Given the description of an element on the screen output the (x, y) to click on. 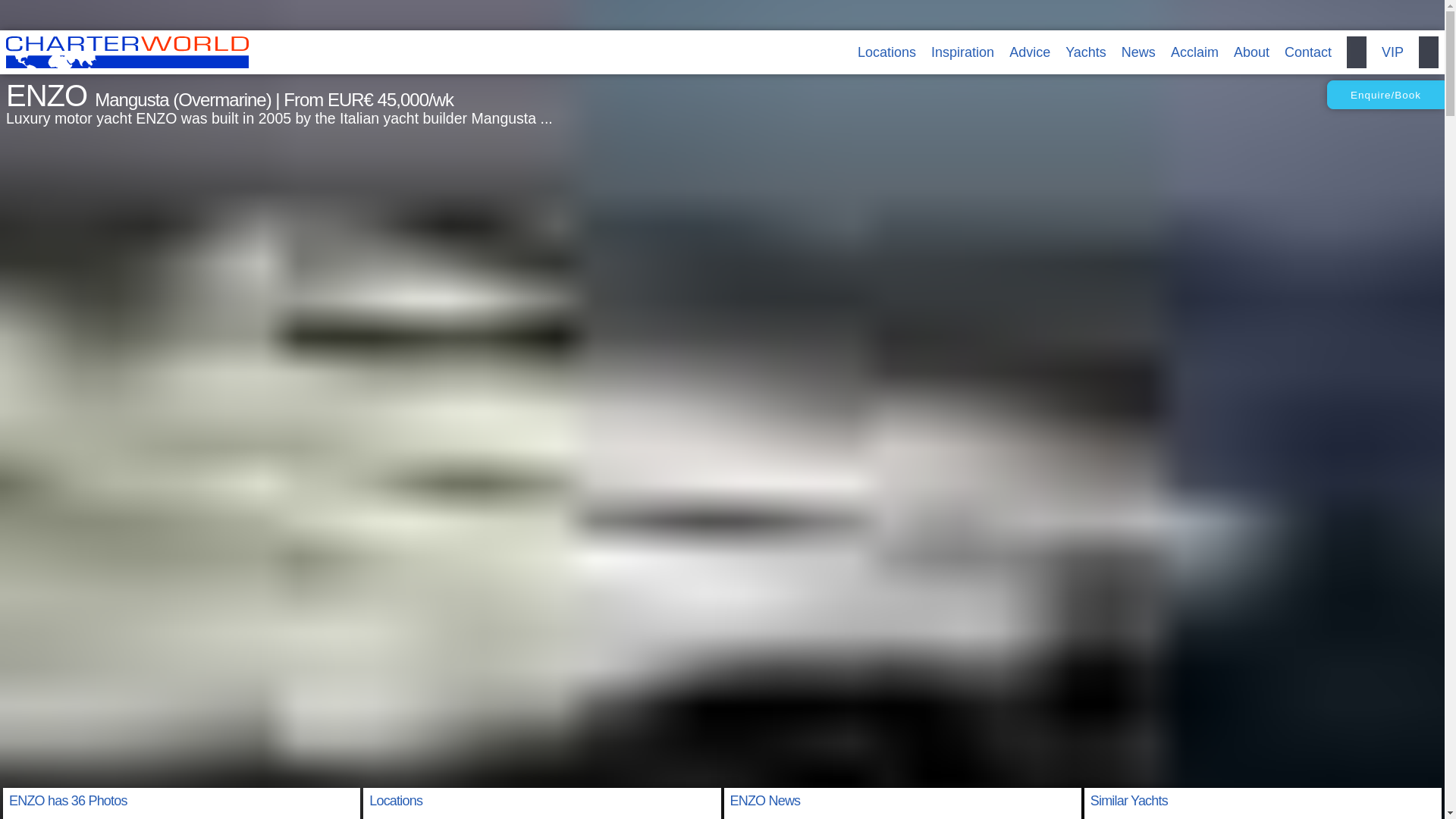
Inspiration (962, 51)
Yachts (1085, 51)
ENZO News (764, 800)
Advice (1029, 51)
Acclaim (1194, 51)
About (1251, 51)
Locations (886, 51)
Contact (1308, 51)
News (1138, 51)
